Given the description of an element on the screen output the (x, y) to click on. 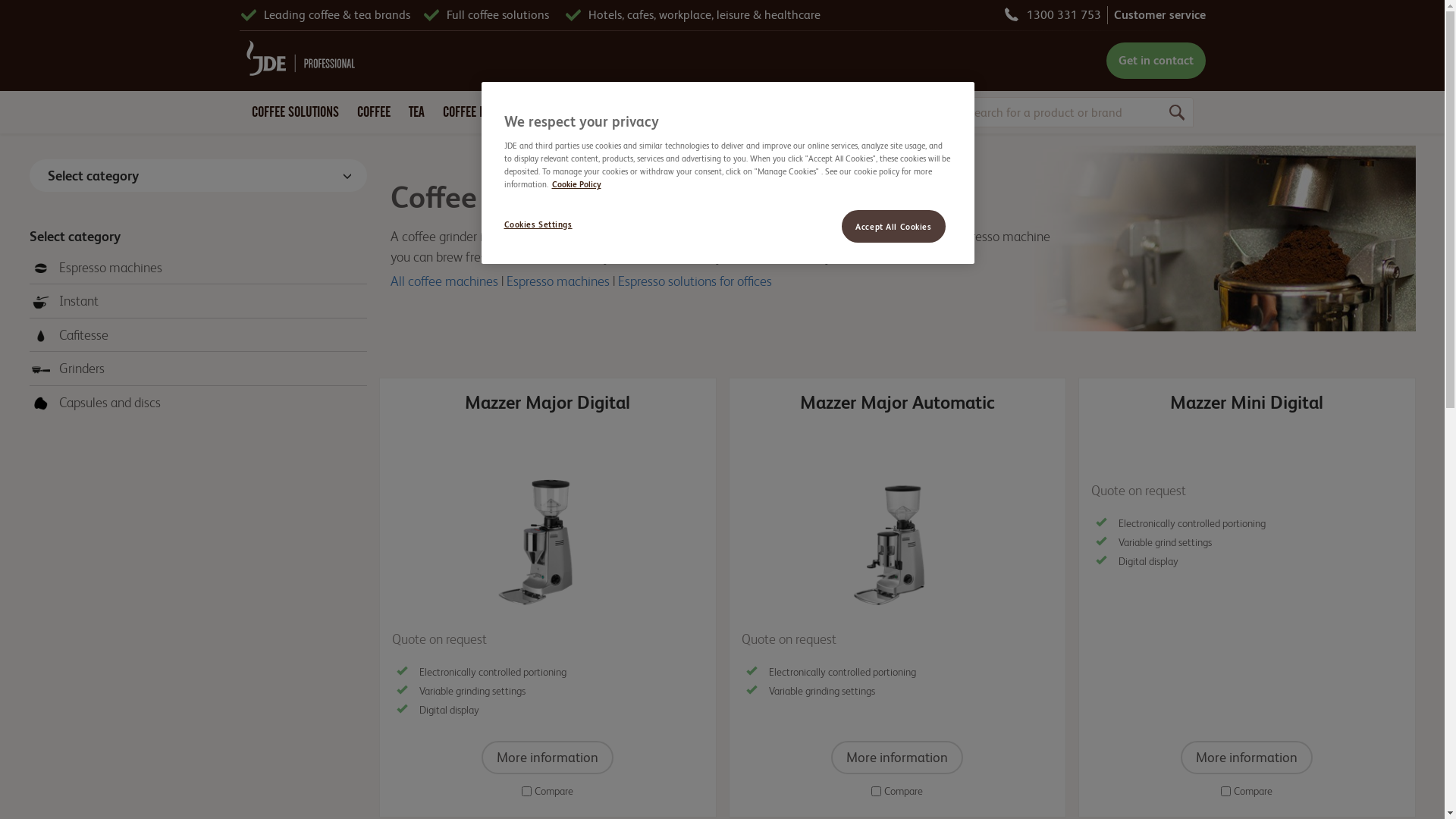
COFFEE SOLUTIONS Element type: text (294, 117)
Espresso machines Element type: text (96, 267)
Customer service Element type: text (1158, 14)
1300 331 753 Element type: text (1063, 14)
Select category Element type: text (197, 175)
Cookie Policy Element type: text (576, 184)
Espresso solutions for offices Element type: text (694, 280)
Cafitesse Element type: text (69, 334)
Grinders Element type: text (67, 368)
Espresso machines Element type: text (557, 280)
TEA Element type: text (415, 117)
BRANDS Element type: text (564, 117)
Capsules and discs Element type: text (95, 402)
Accept All Cookies Element type: text (892, 225)
Cookies Settings Element type: text (554, 225)
Instant Element type: text (64, 300)
COFFEE MACHINES Element type: text (484, 117)
Get in contact Element type: text (1154, 60)
DISTRIBUTORS Element type: text (634, 117)
TRAINING Element type: text (706, 117)
All coffee machines Element type: text (443, 280)
COFFEE Element type: text (372, 117)
